Given the description of an element on the screen output the (x, y) to click on. 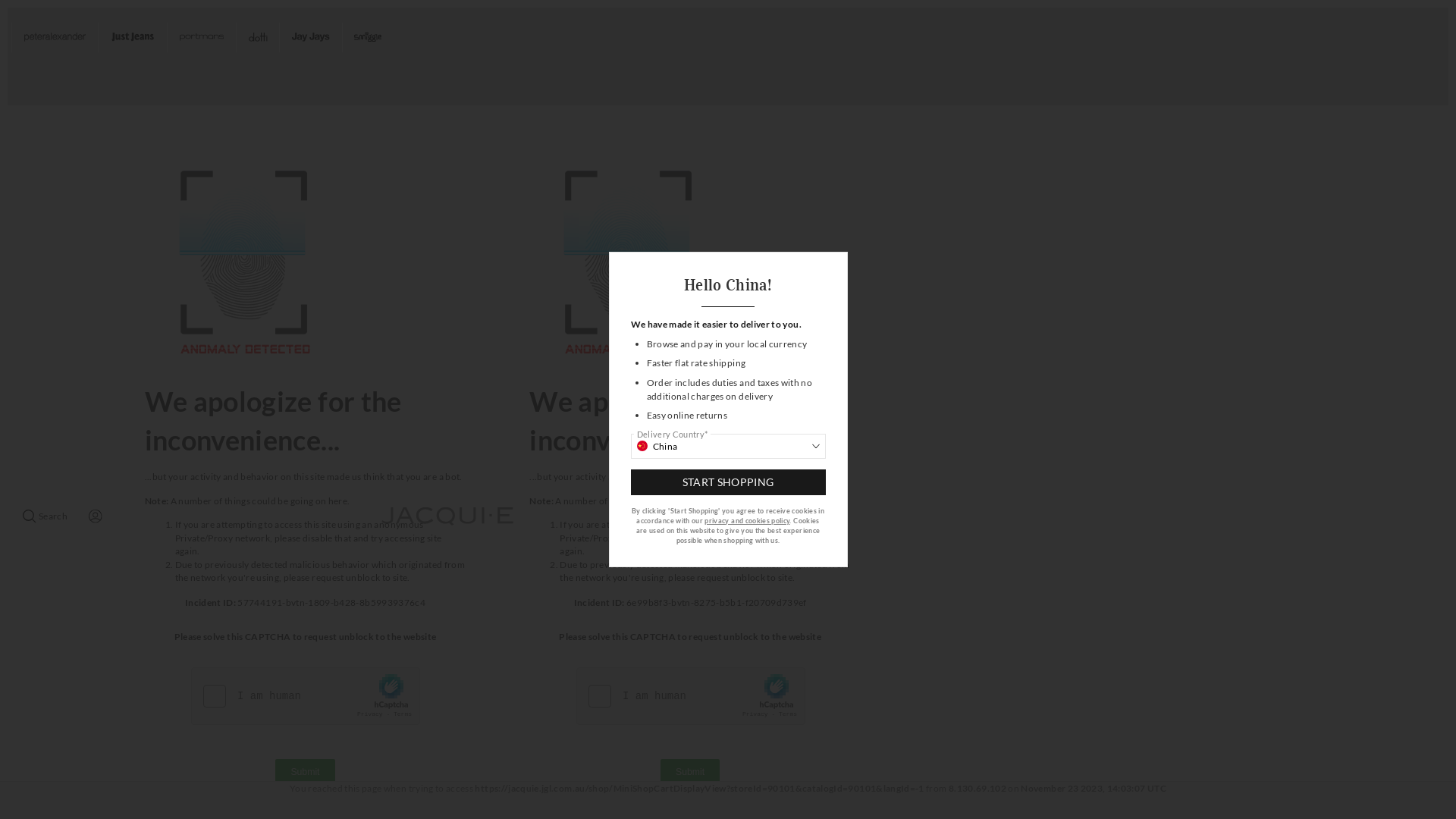
Jay Jays Element type: hover (310, 37)
START SHOPPING Element type: text (727, 482)
Just Jeans Element type: hover (131, 37)
Submit Element type: text (304, 771)
Dotti Element type: hover (257, 37)
Peter Alexander Element type: hover (54, 37)
Portmans Element type: hover (200, 37)
Widget containing checkbox for hCaptcha security challenge Element type: hover (305, 696)
Widget containing checkbox for hCaptcha security challenge Element type: hover (691, 696)
privacy and cookies policy Element type: text (746, 520)
Search Element type: text (44, 515)
Smiggle Element type: hover (368, 37)
Submit Element type: text (689, 771)
Search Element type: text (44, 516)
